Given the description of an element on the screen output the (x, y) to click on. 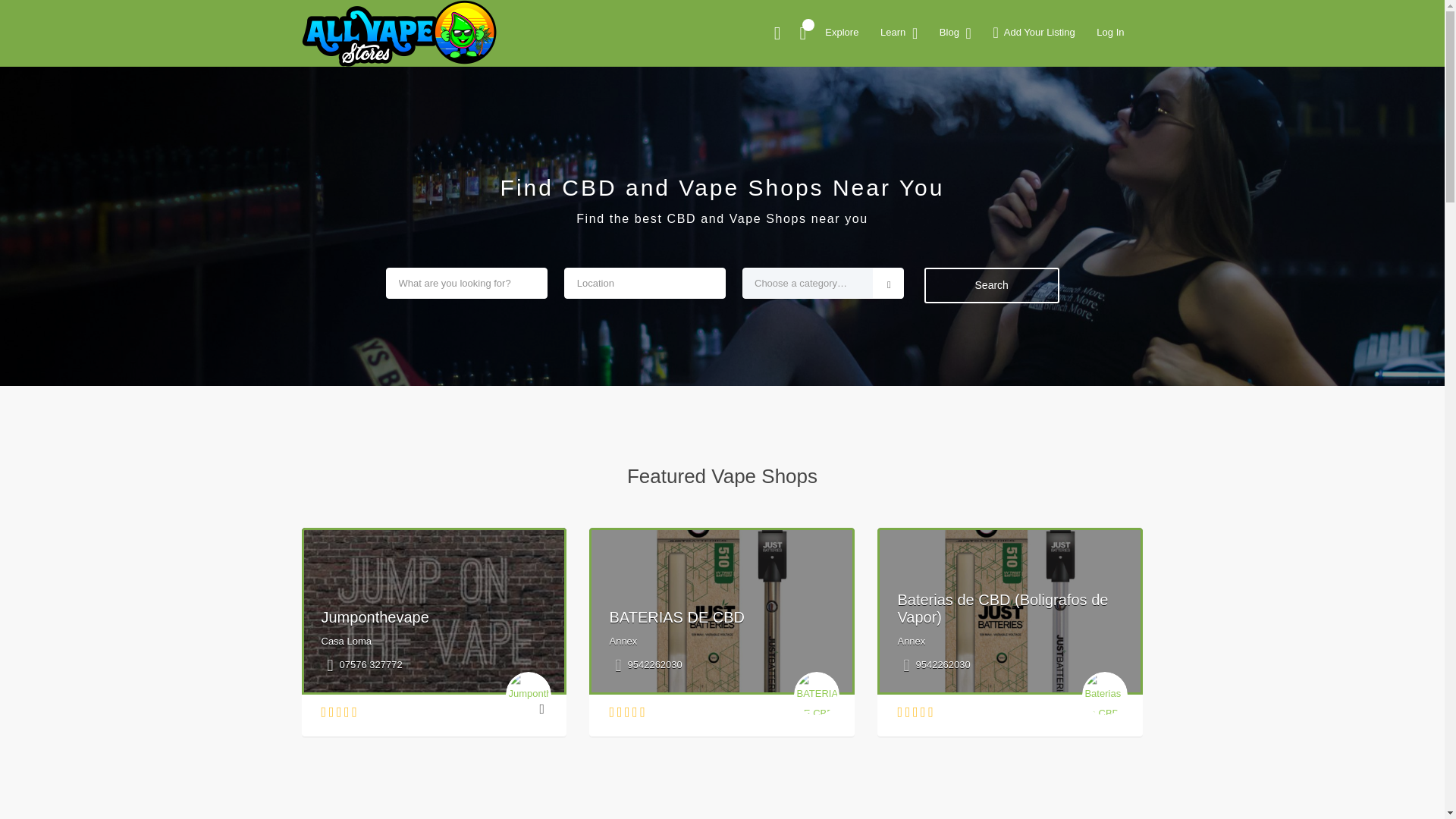
Skip to content (34, 9)
Search (1050, 85)
Search (1050, 85)
Privacy Policy (999, 306)
Search (1050, 85)
DMCA Policy (996, 282)
ADMINISTRATOR (417, 118)
RSS (977, 612)
Blog (976, 510)
Instagram (737, 181)
Log in (980, 588)
LUCYG-MAKEUP.CO.UK (414, 28)
Terms of Use (996, 330)
Latest Article (996, 172)
Disclaimer (990, 354)
